Given the description of an element on the screen output the (x, y) to click on. 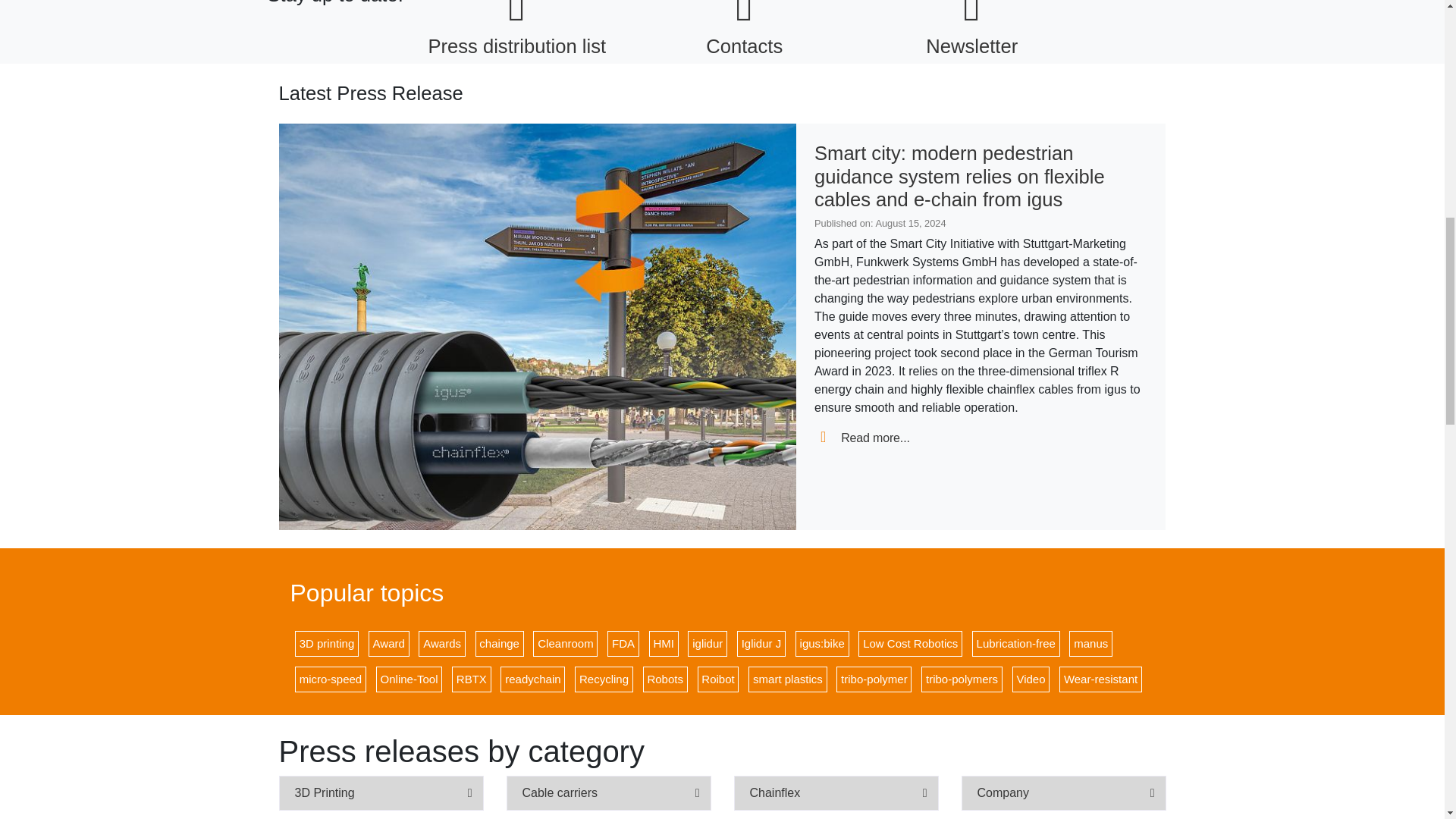
3D printing (326, 643)
Newsletter (971, 29)
Press distribution list (517, 29)
Award (388, 643)
Read more... (861, 437)
Contacts (744, 29)
